Given the description of an element on the screen output the (x, y) to click on. 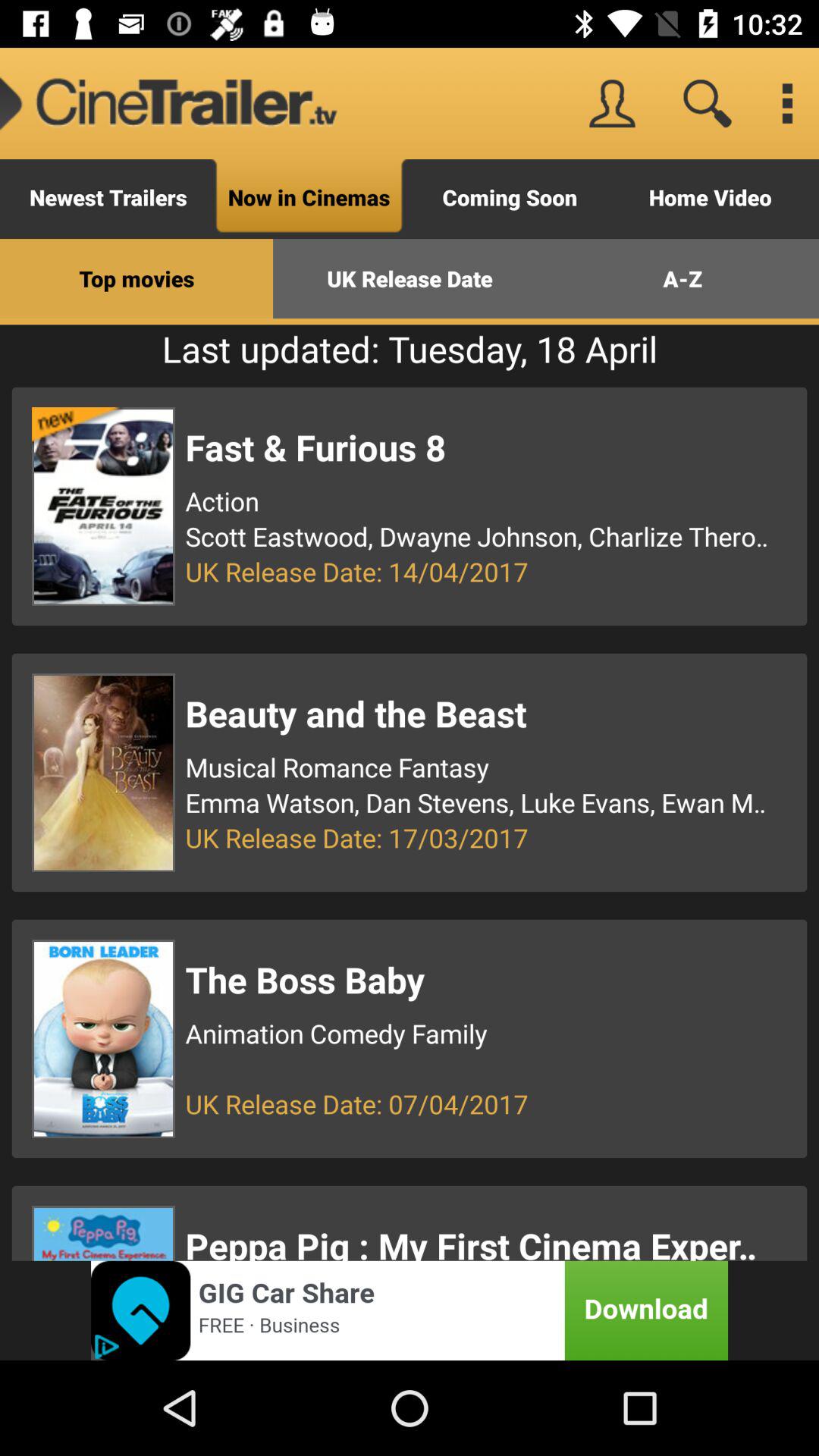
banner of advertiser (409, 1310)
